Given the description of an element on the screen output the (x, y) to click on. 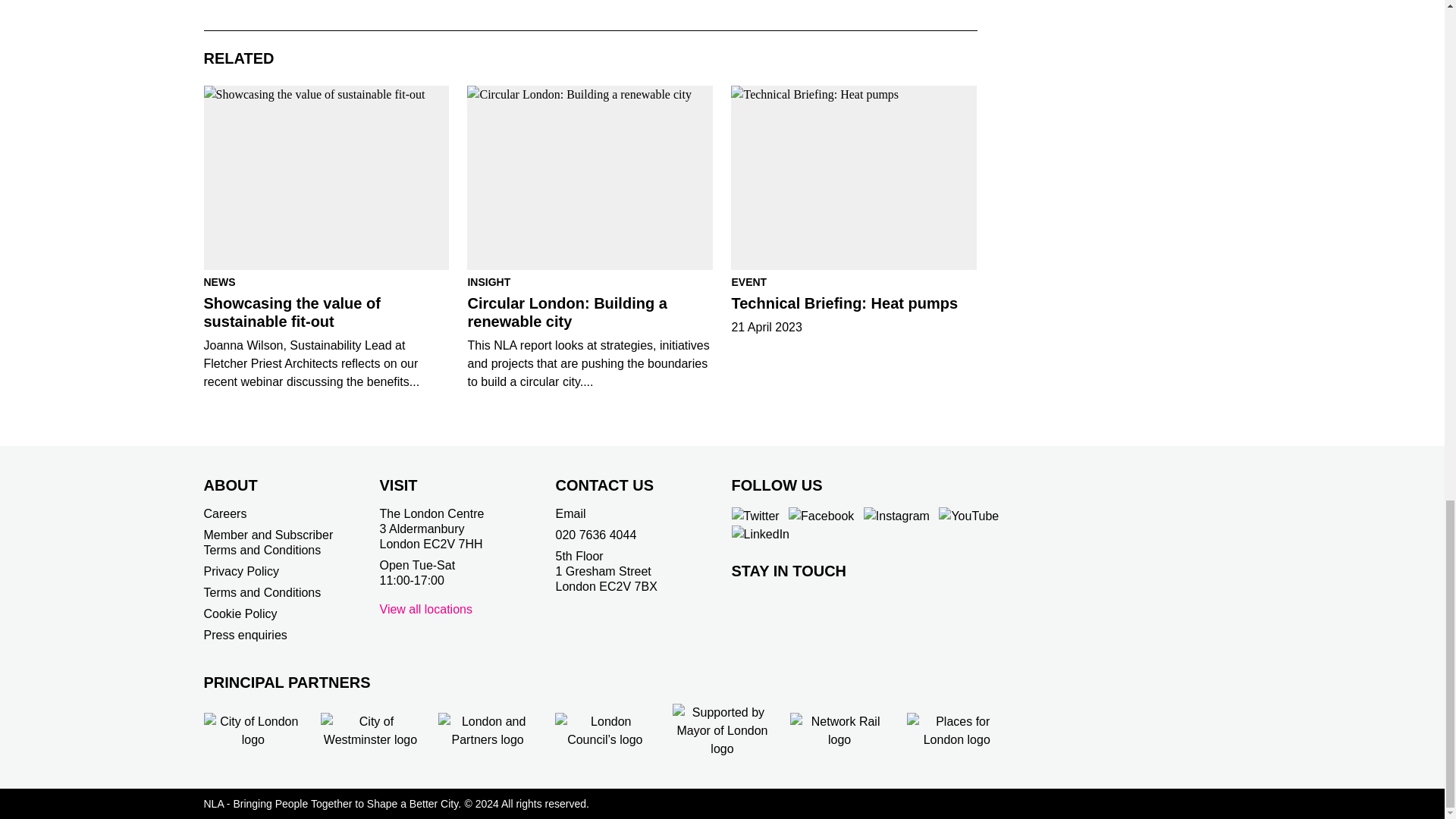
Technical Briefing: Heat pumps (853, 177)
Showcasing the value of sustainable fit-out (325, 177)
Circular London: Building a renewable city (590, 177)
Email the NLA (569, 513)
